Given the description of an element on the screen output the (x, y) to click on. 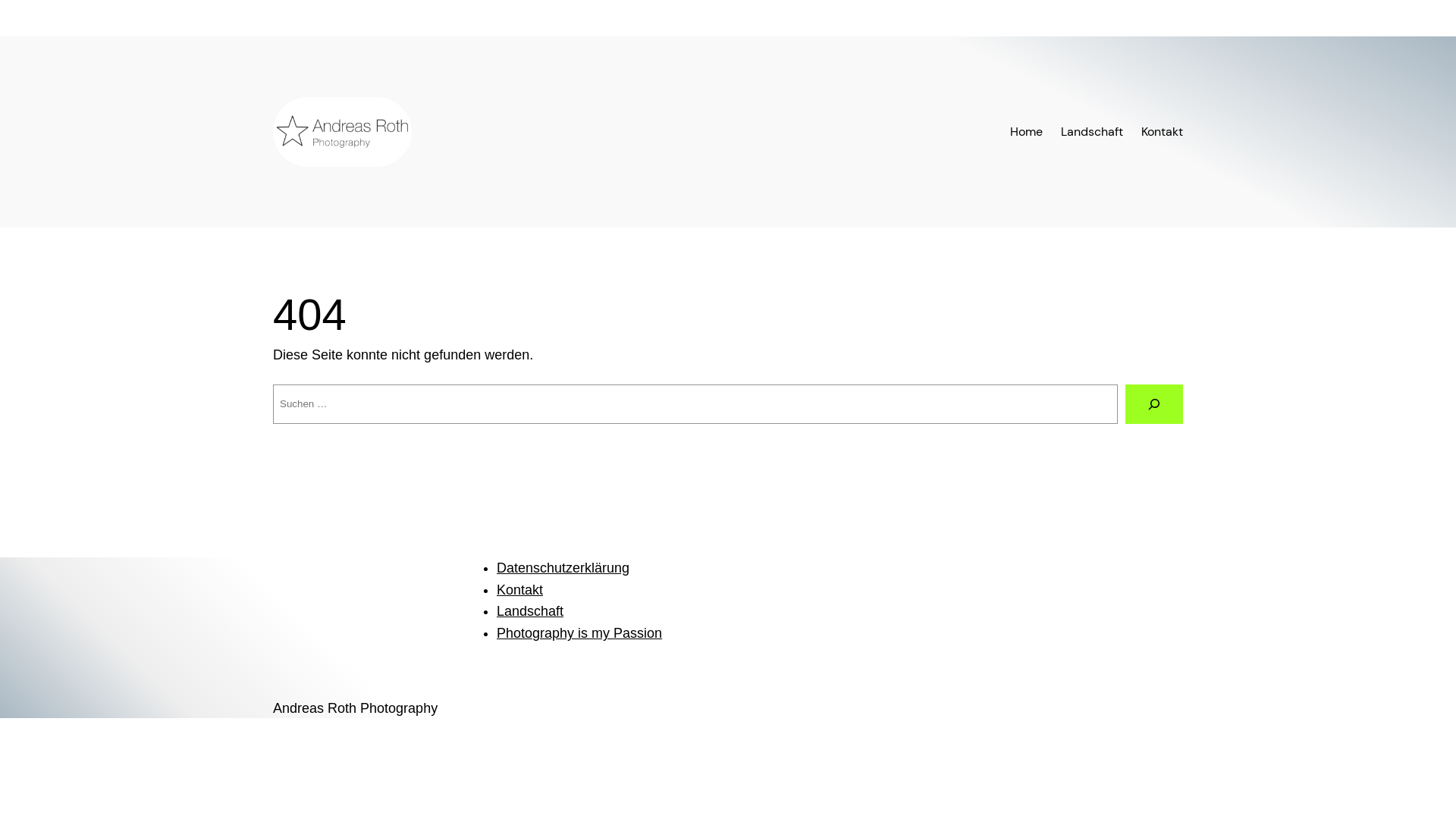
Home Element type: text (1026, 131)
Photography is my Passion Element type: text (579, 632)
Kontakt Element type: text (1162, 131)
Landschaft Element type: text (529, 610)
Andreas Roth Photography Element type: text (355, 707)
Kontakt Element type: text (519, 589)
Landschaft Element type: text (1091, 131)
